Given the description of an element on the screen output the (x, y) to click on. 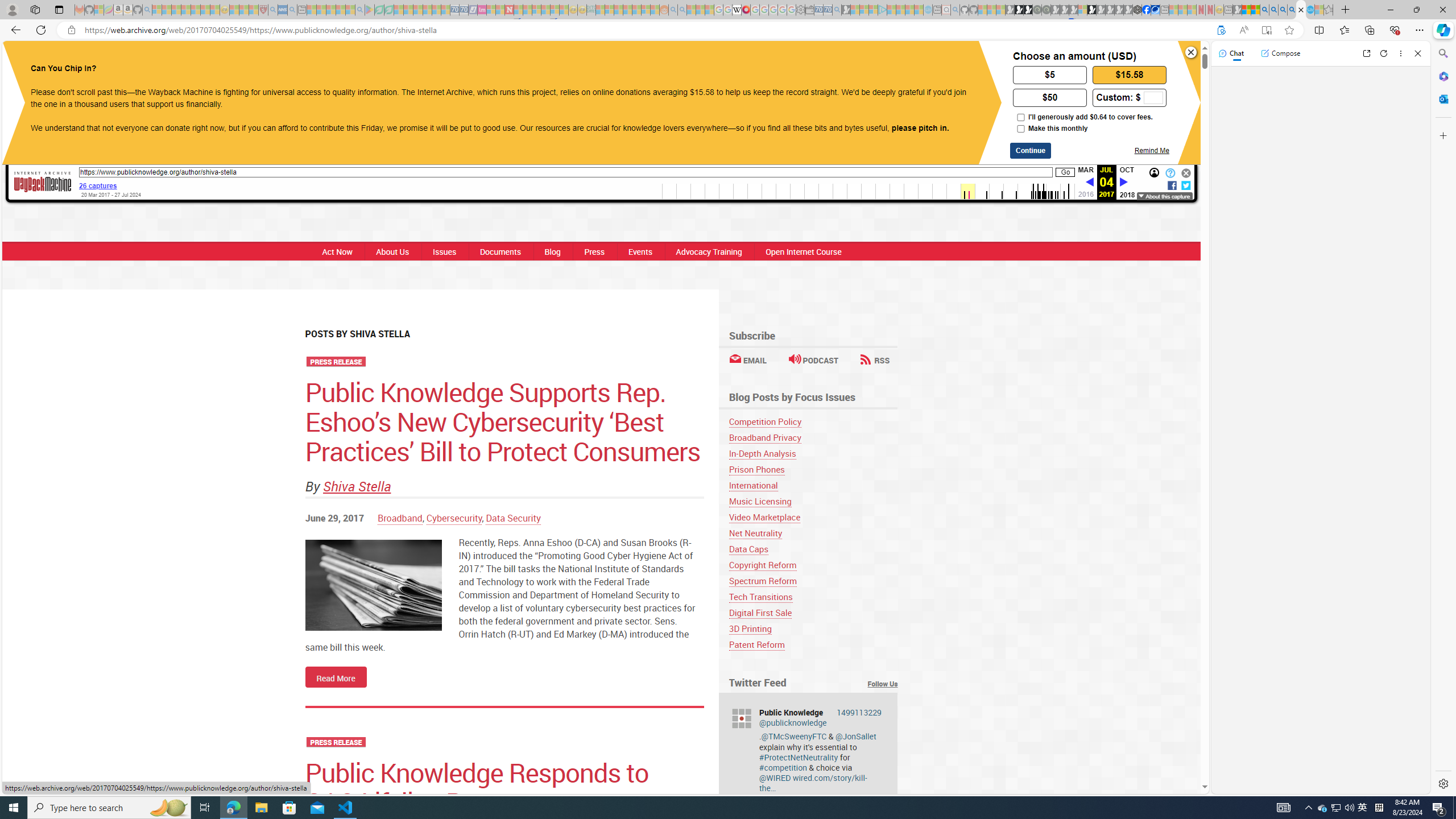
Events (639, 251)
Sign in to your account - Sleeping (1082, 9)
Open Internet Course (803, 251)
About Us (392, 251)
Act Now (334, 251)
1499113229 (859, 712)
3D Printing (813, 628)
Competition Policy (765, 421)
